Given the description of an element on the screen output the (x, y) to click on. 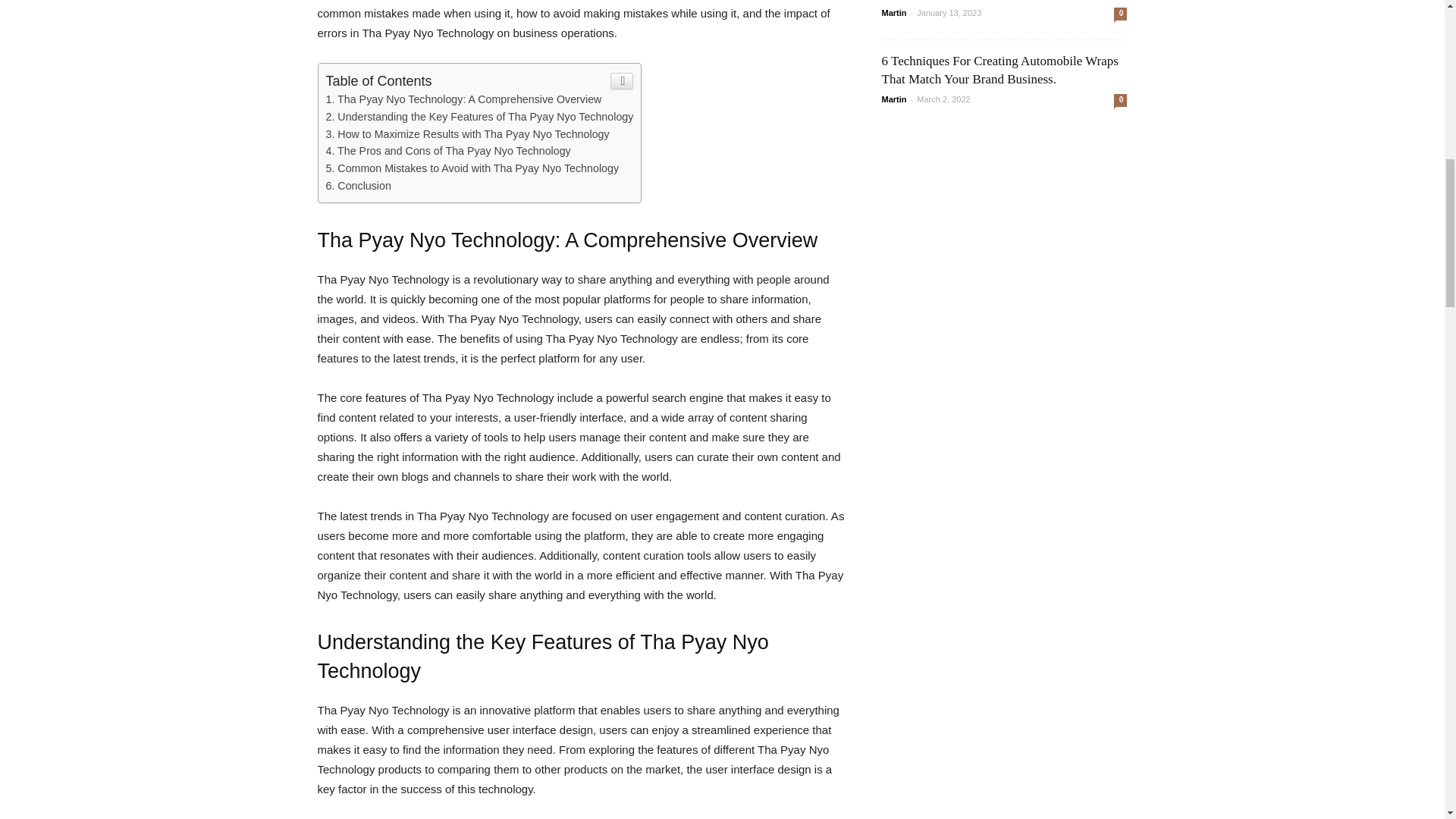
Tha Pyay Nyo Technology: A Comprehensive Overview (464, 99)
How to Maximize Results with Tha Pyay Nyo Technology (468, 133)
The Pros and Cons of Tha Pyay Nyo Technology (448, 150)
Common Mistakes to Avoid with Tha Pyay Nyo Technology (473, 168)
Understanding the Key Features of Tha Pyay Nyo Technology (479, 116)
